Given the description of an element on the screen output the (x, y) to click on. 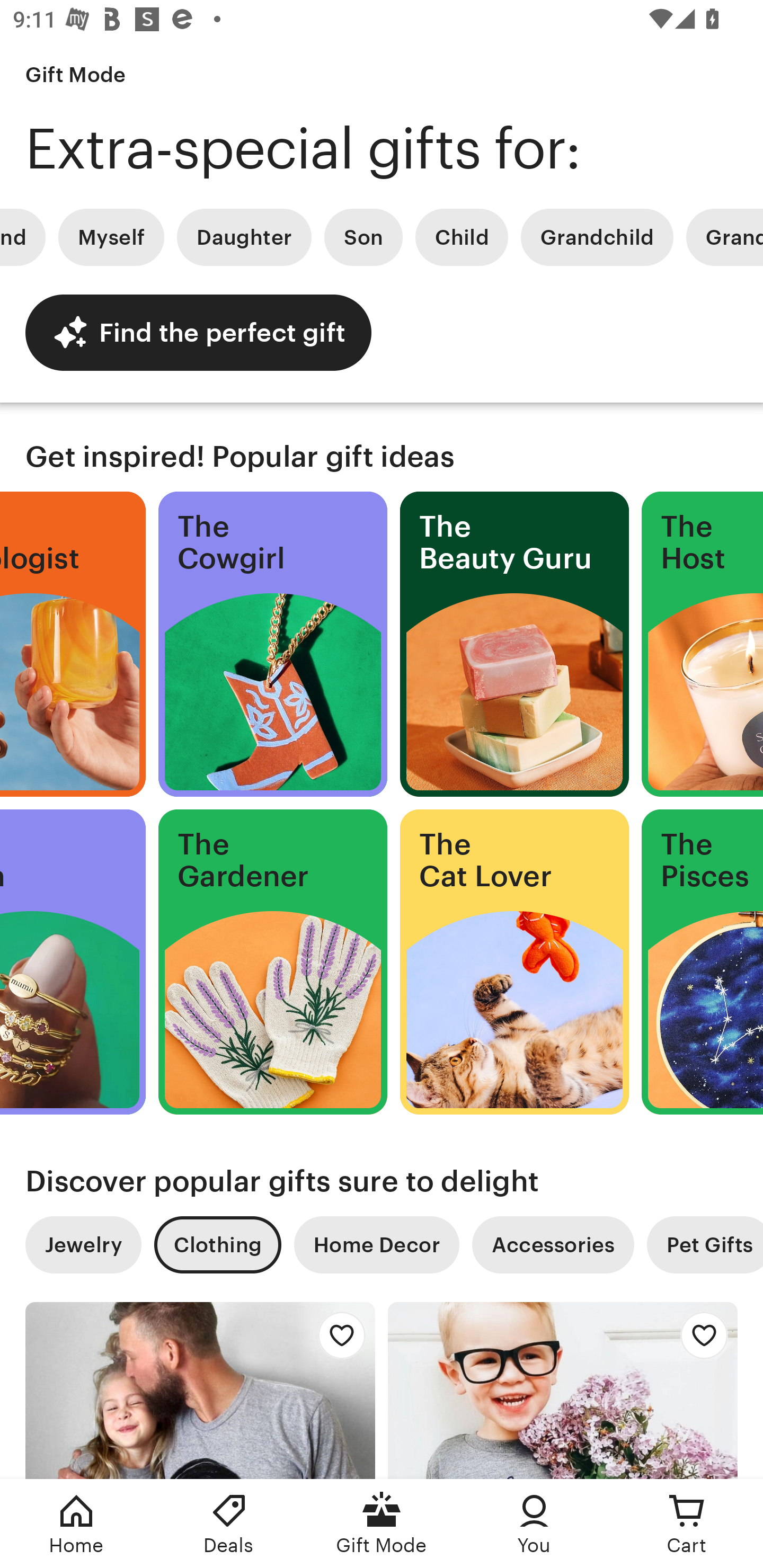
Myself (110, 237)
Daughter (244, 237)
Son (363, 237)
Child (461, 237)
Grandchild (597, 237)
Find the perfect gift (198, 332)
The Cowgirl (272, 644)
The Beauty Guru (513, 644)
The Host (702, 644)
The Gardener (272, 961)
The Cat Lover (513, 961)
The Pisces (702, 961)
Jewelry (83, 1244)
Clothing (217, 1244)
Home Decor (376, 1244)
Accessories (553, 1244)
Pet Gifts (705, 1244)
Home (76, 1523)
Deals (228, 1523)
You (533, 1523)
Cart (686, 1523)
